Given the description of an element on the screen output the (x, y) to click on. 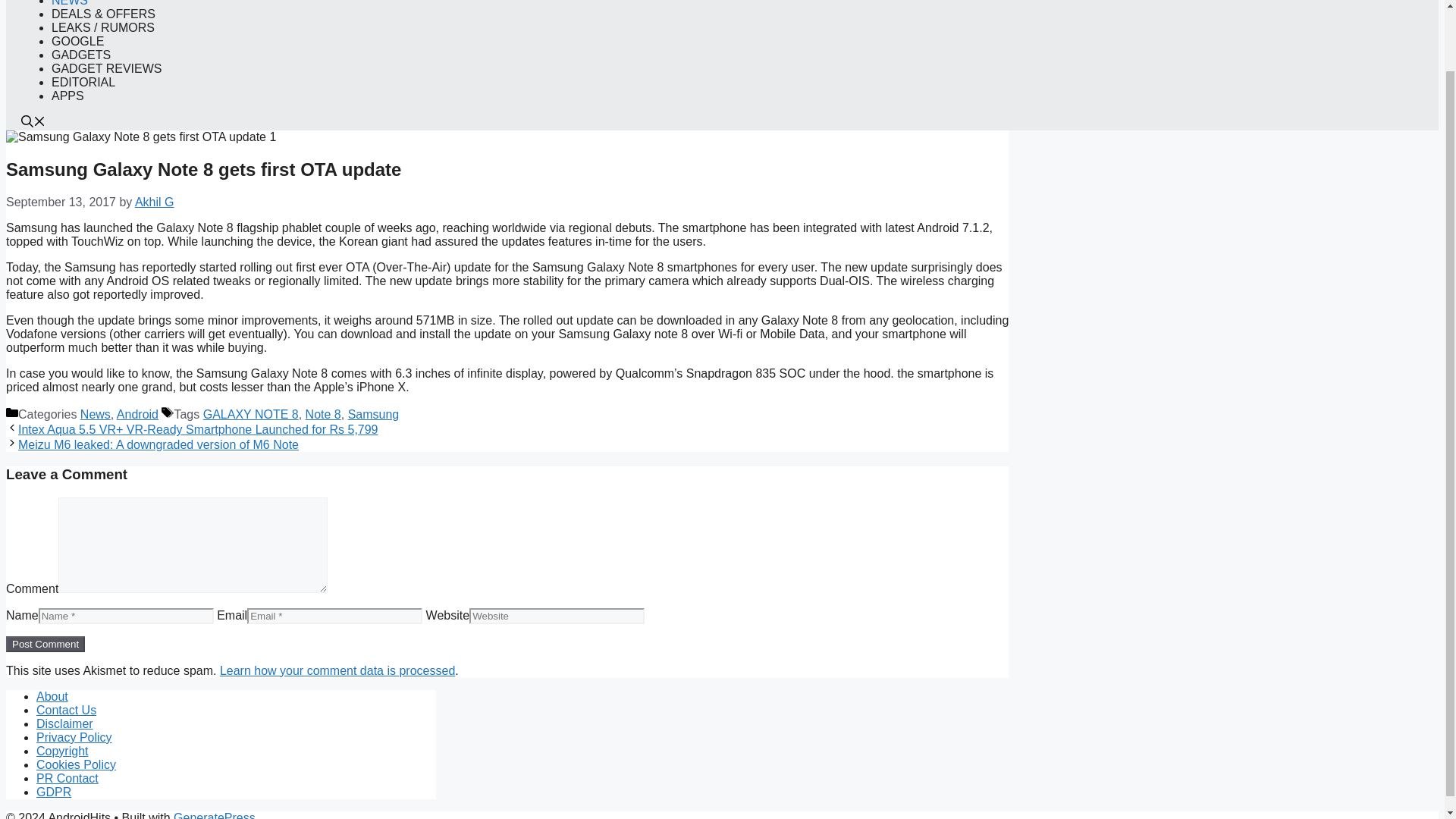
GOOGLE (76, 41)
Cookies Policy (76, 764)
Post Comment (44, 643)
Copyright (61, 750)
NEWS (68, 3)
Contact Us (66, 709)
GADGETS (80, 54)
Note 8 (322, 413)
View all posts by Akhil G (154, 201)
GALAXY NOTE 8 (250, 413)
